Given the description of an element on the screen output the (x, y) to click on. 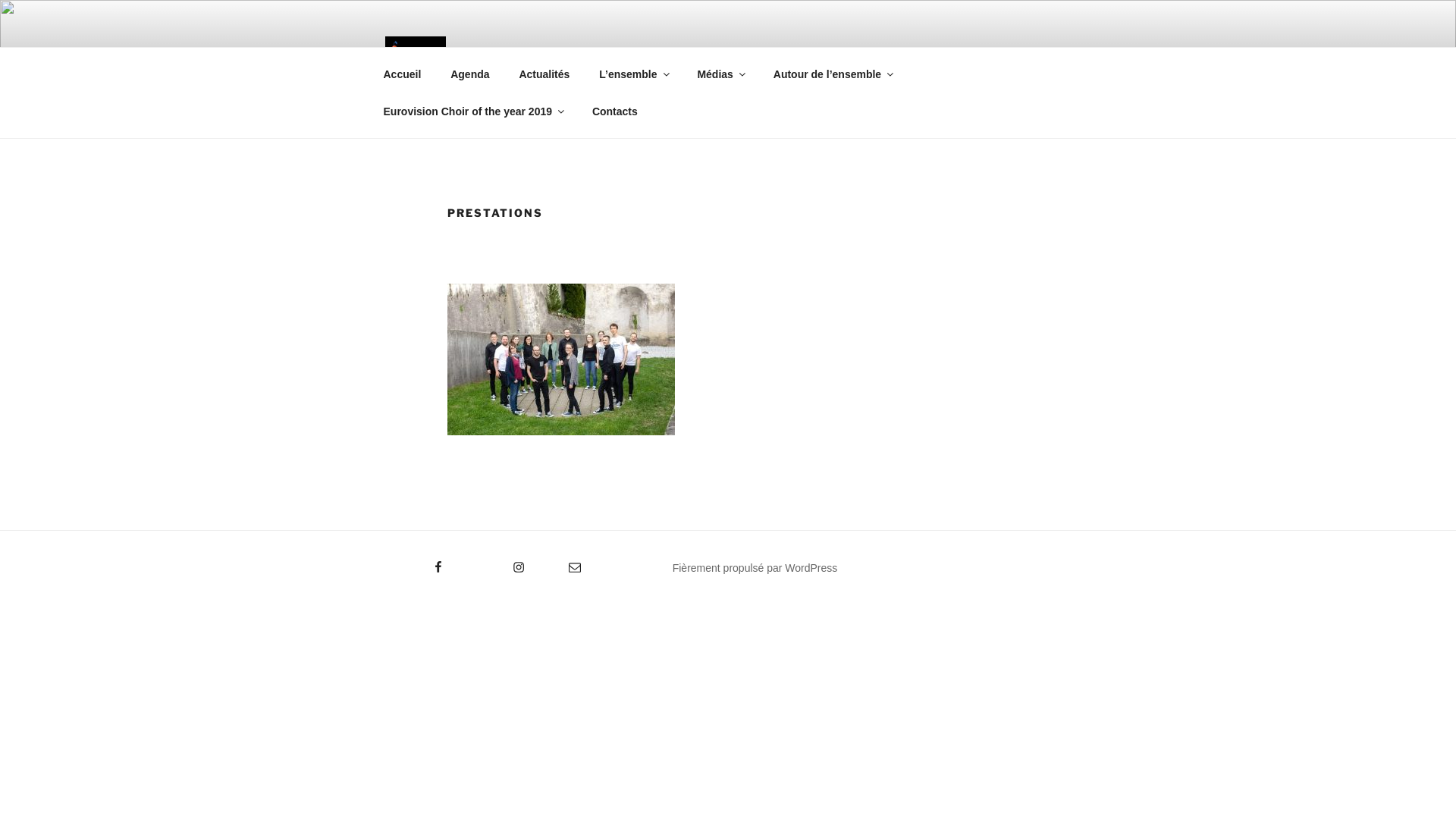
CAKE O'PHONIE Element type: text (597, 59)
Accueil Element type: text (402, 74)
Instagram Element type: text (492, 561)
Contacts Element type: text (614, 110)
Email Element type: text (559, 561)
Agenda Element type: text (469, 74)
Facebook Element type: text (412, 561)
Eurovision Choir of the year 2019 Element type: text (473, 110)
